Given the description of an element on the screen output the (x, y) to click on. 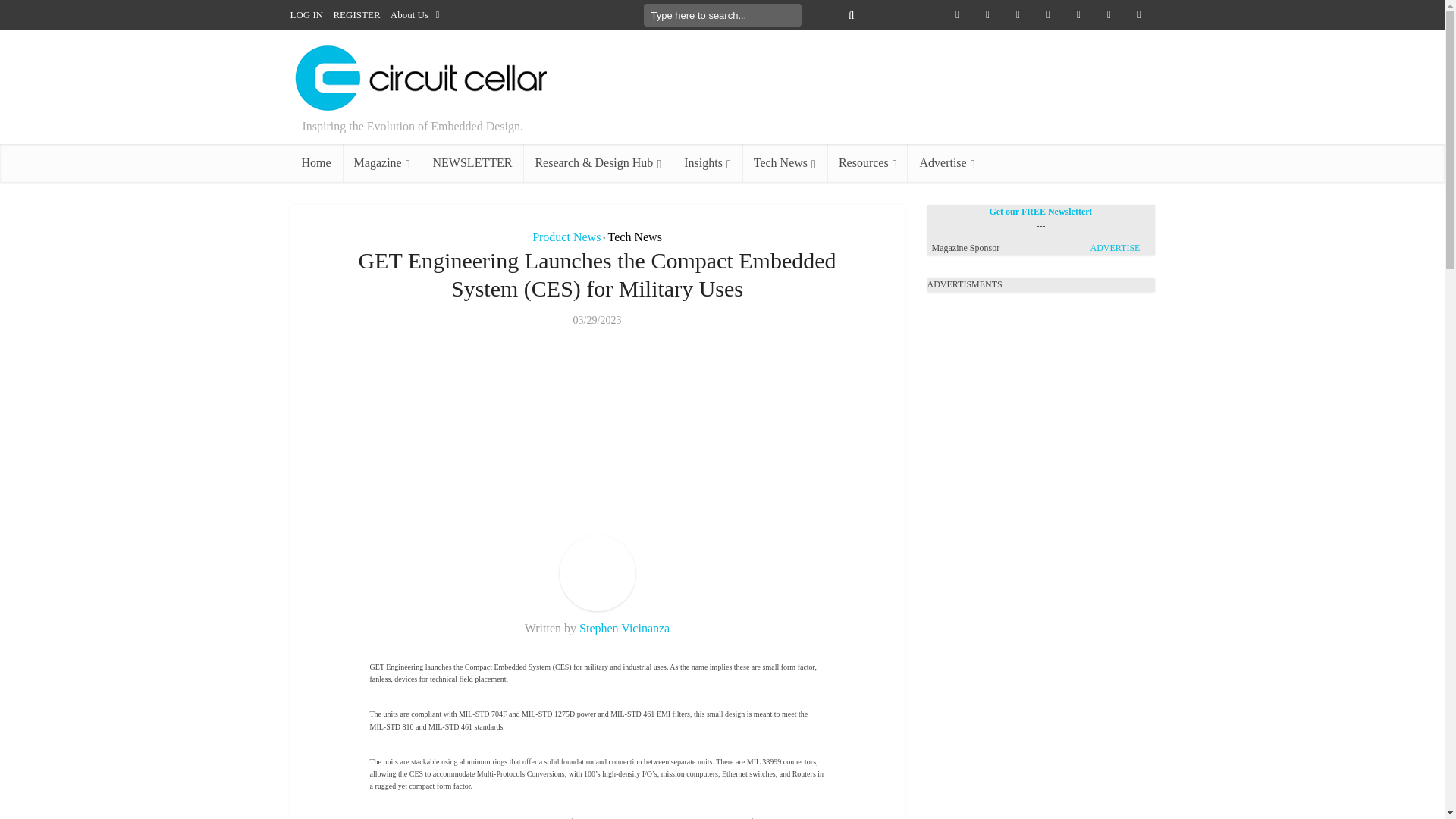
Type here to search... (721, 15)
About Us   (411, 14)
Home (315, 162)
Insights (707, 162)
Type here to search... (721, 15)
LOG IN (306, 14)
NEWSLETTER (473, 162)
Magazine (382, 162)
REGISTER (356, 14)
